Given the description of an element on the screen output the (x, y) to click on. 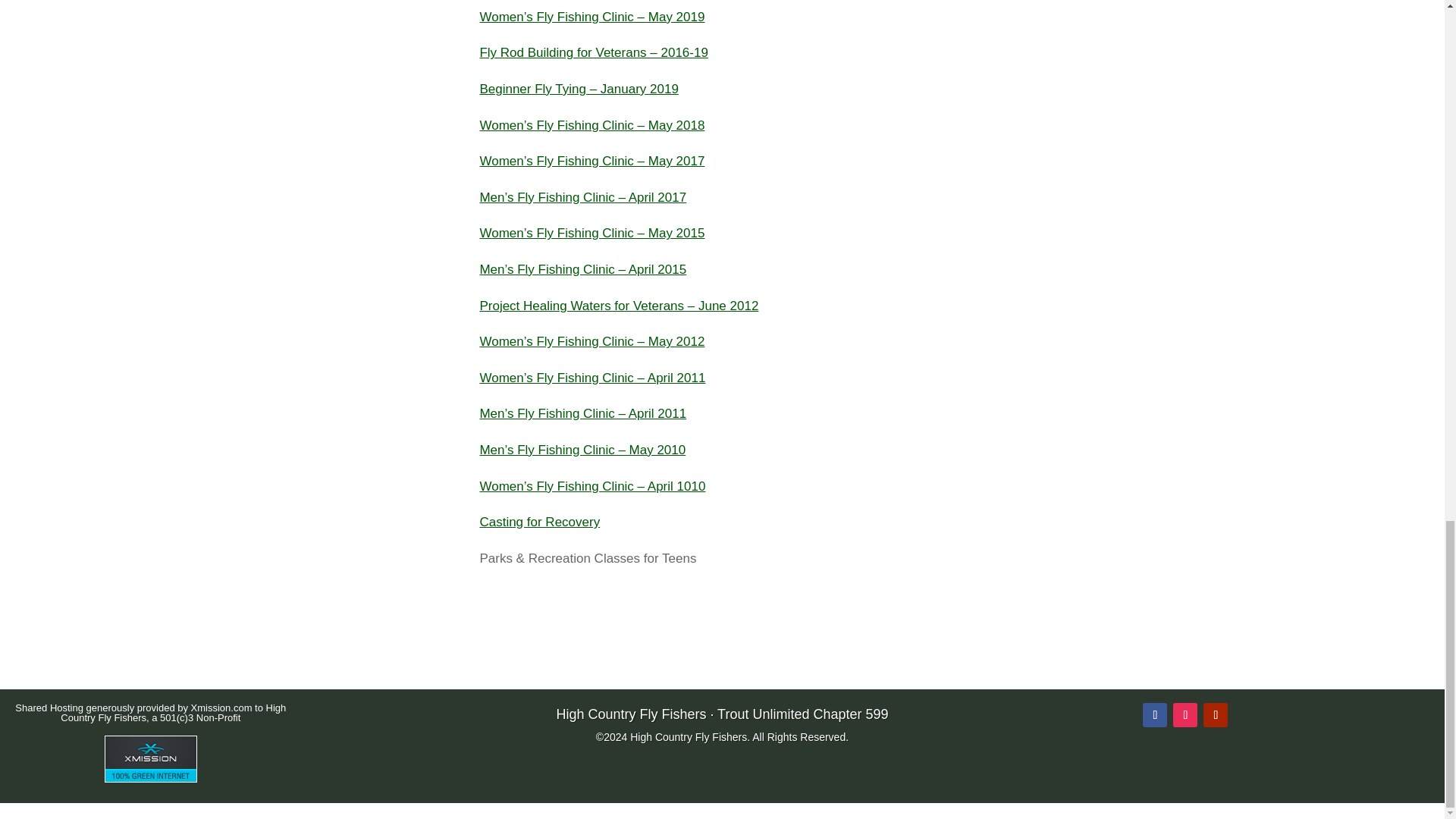
Follow on Youtube (1215, 714)
Internet Services donated by XMission.com (150, 778)
Follow on Facebook (1154, 714)
Follow on Instagram (1184, 714)
